Given the description of an element on the screen output the (x, y) to click on. 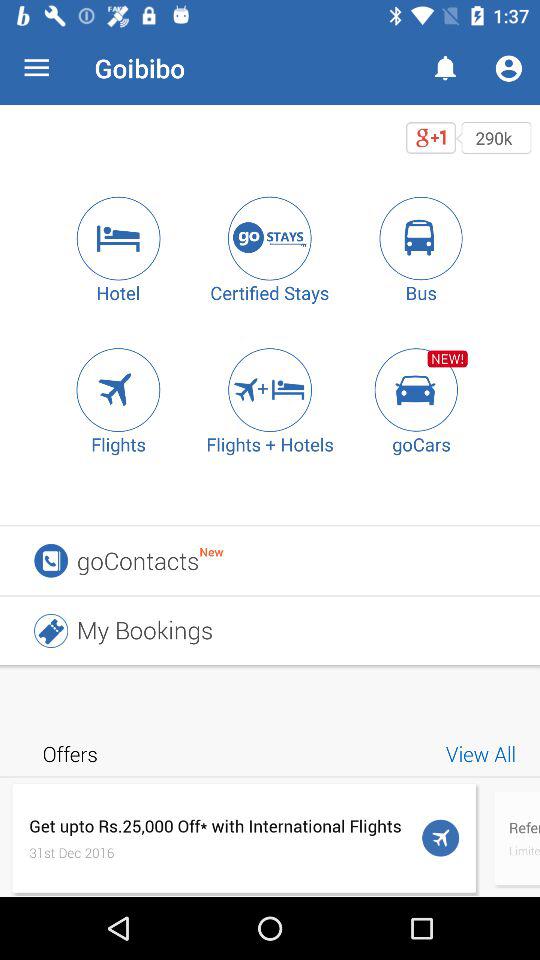
tap icon to the right of the flights + hotels icon (421, 389)
